Given the description of an element on the screen output the (x, y) to click on. 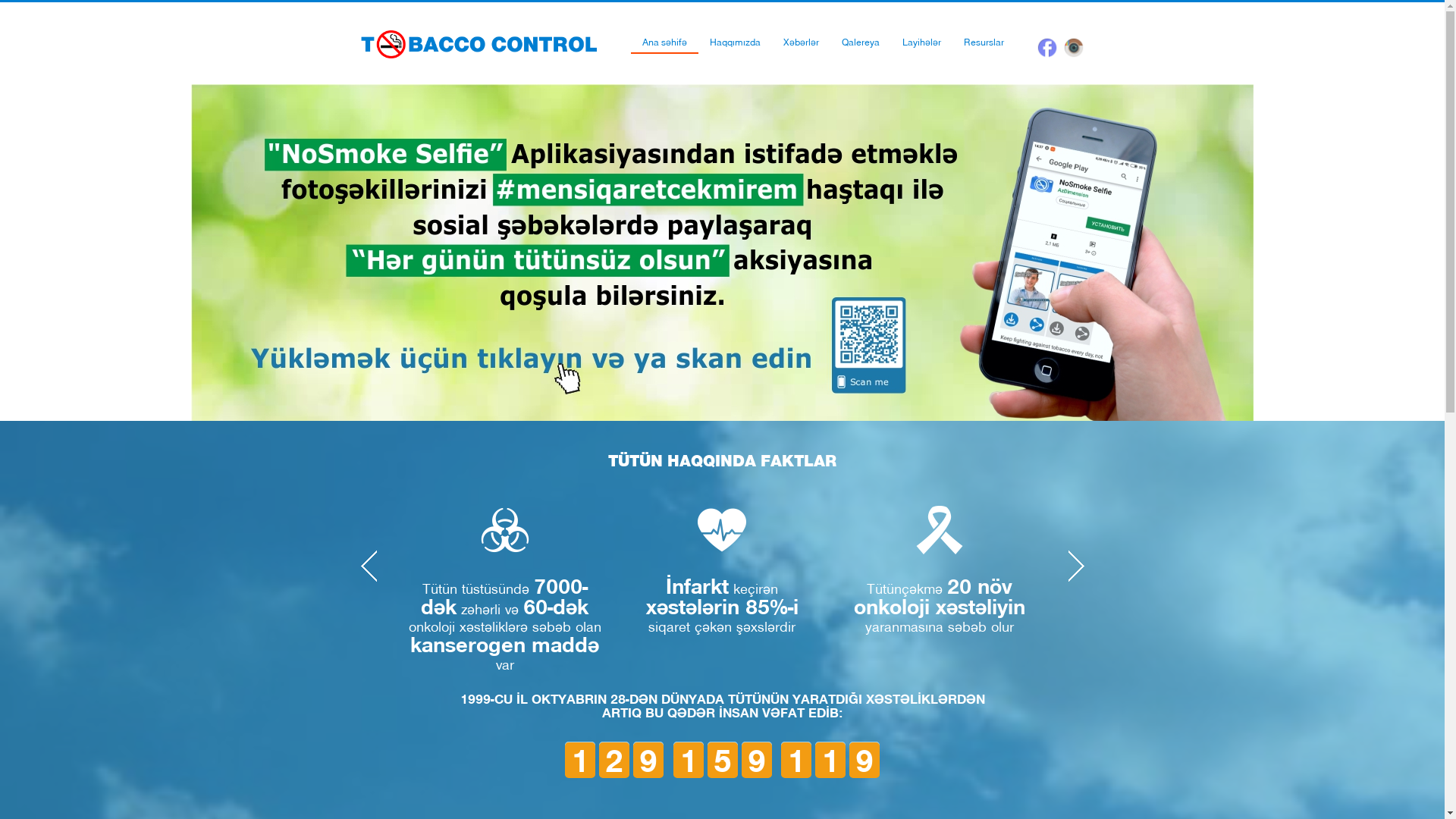
Qalereya Element type: text (860, 42)
Tobaccocontrol Element type: text (478, 44)
Resurslar Element type: text (983, 42)
Facebook Element type: text (1046, 47)
Instagram Element type: text (1072, 47)
